Given the description of an element on the screen output the (x, y) to click on. 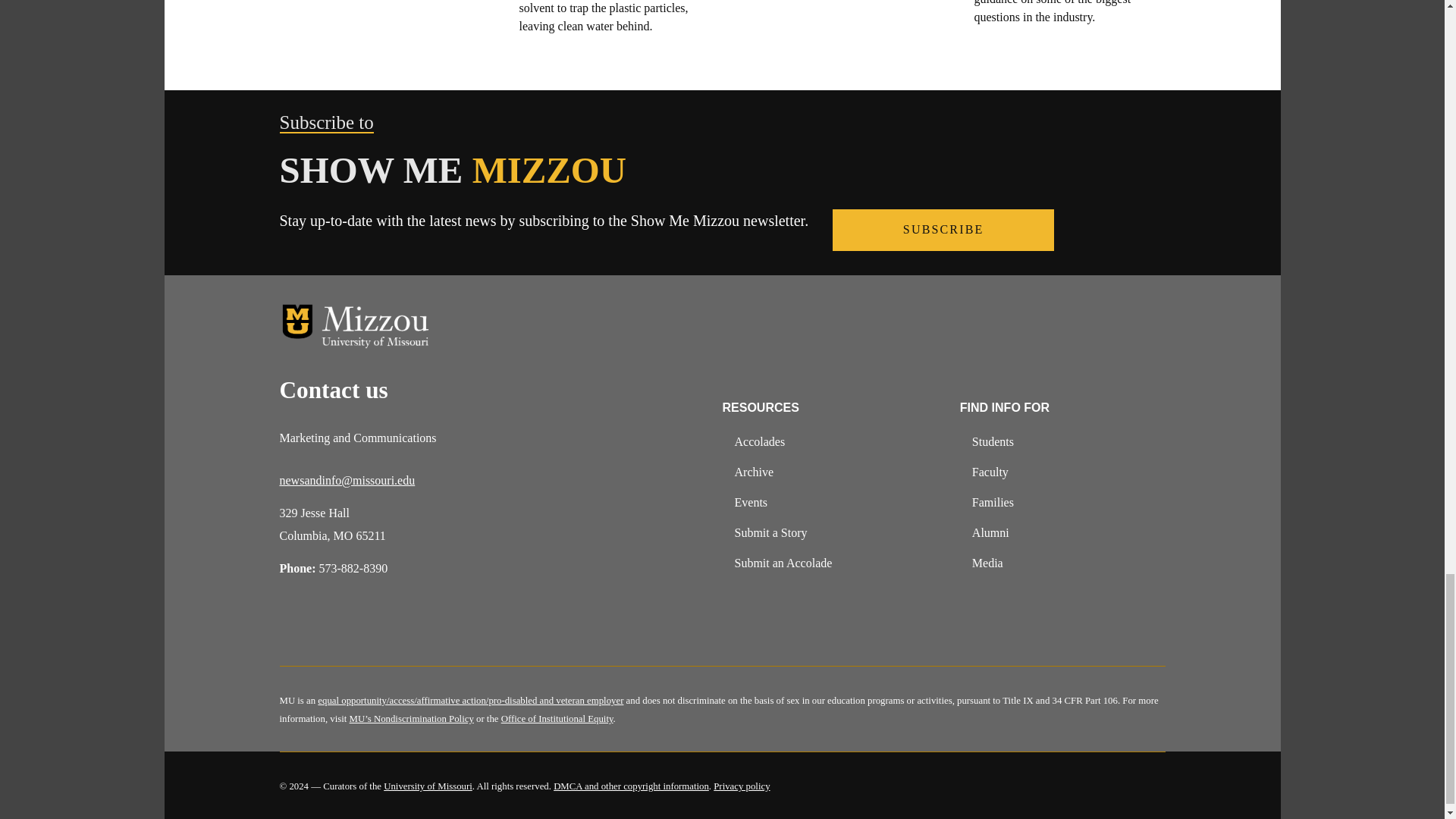
Twitter (332, 627)
Instagram (371, 627)
Facebook (292, 627)
Linkedin (411, 627)
